Given the description of an element on the screen output the (x, y) to click on. 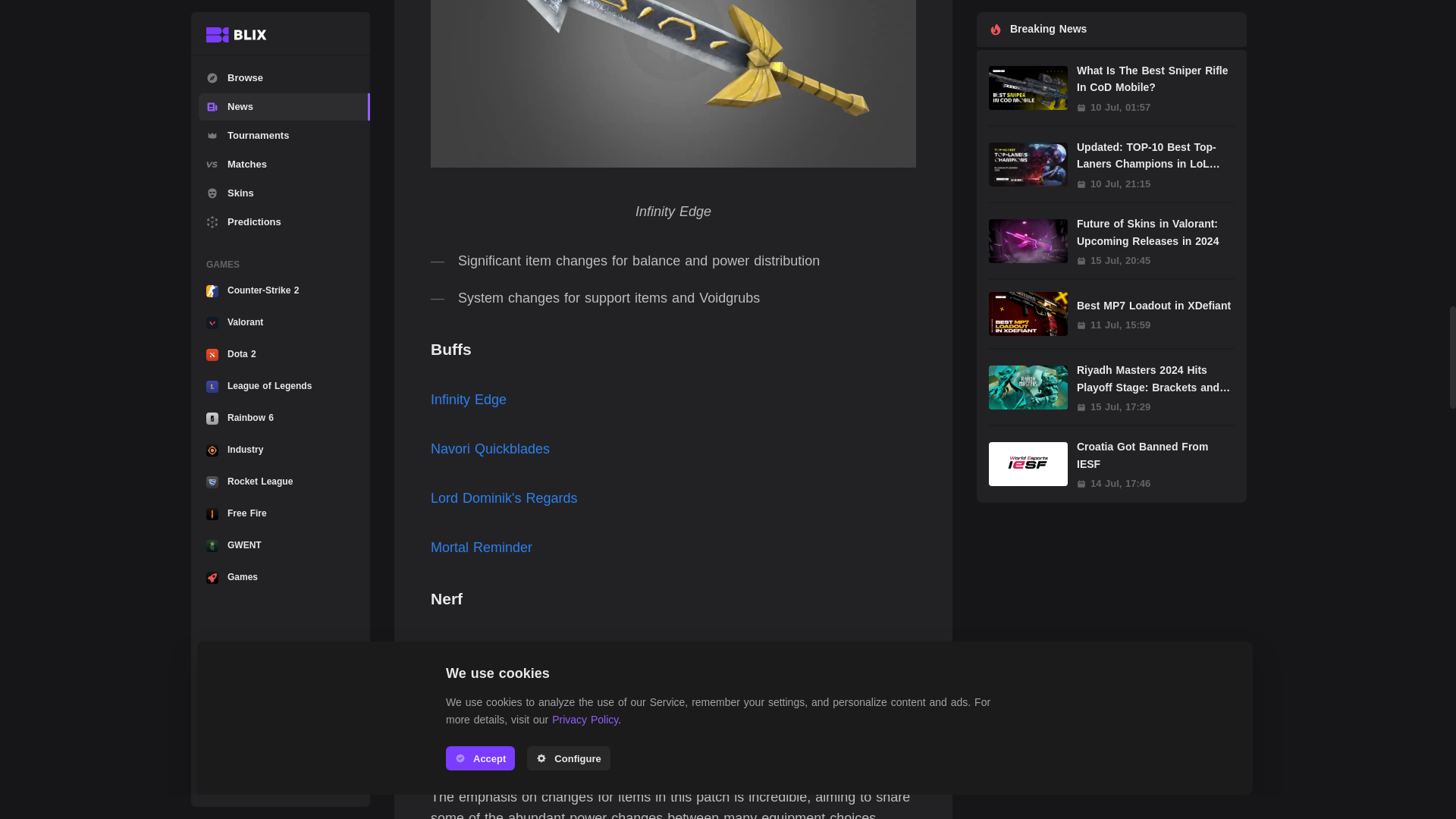
Caulfield's Warhammer (501, 698)
Lord Dominik's Regards (504, 498)
Mortal Reminder (481, 547)
Infinity Edge (468, 399)
Bami's Cinder (472, 648)
Navori Quickblades (490, 448)
Serrated Dirk (471, 747)
